Given the description of an element on the screen output the (x, y) to click on. 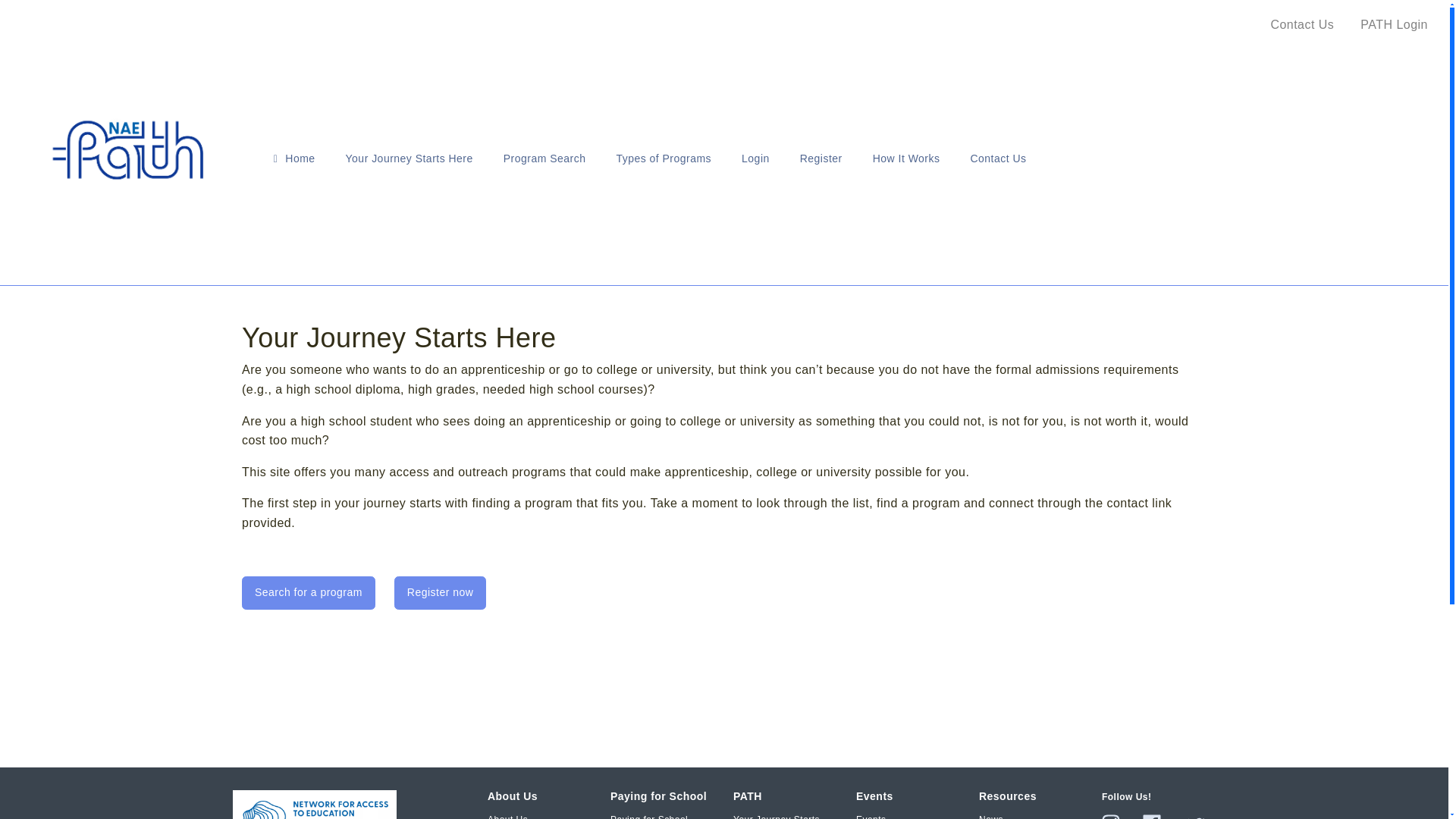
Types of Programs (662, 158)
Events (871, 816)
Your Journey Starts Here (785, 816)
Your Journey Starts Here (408, 158)
How It Works (906, 158)
Login (755, 158)
Home (294, 158)
Contact Us (998, 158)
Register (820, 158)
Program Search (544, 158)
